Given the description of an element on the screen output the (x, y) to click on. 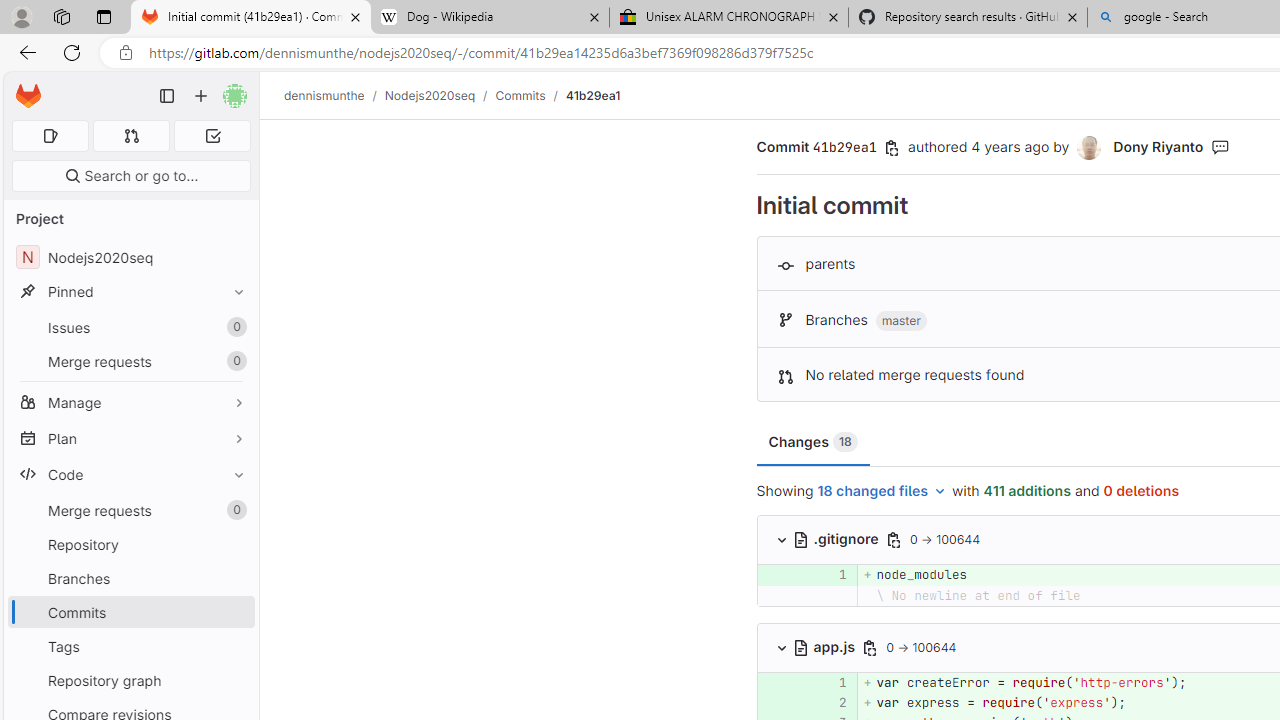
Issues0 (130, 327)
Primary navigation sidebar (167, 96)
Skip to main content (23, 87)
Manage (130, 402)
Unpin Merge requests (234, 510)
Pin Tags (234, 646)
Repository graph (130, 679)
Pin Repository graph (234, 680)
To-Do list 0 (212, 136)
1 (831, 681)
.gitignore  (837, 538)
